Given the description of an element on the screen output the (x, y) to click on. 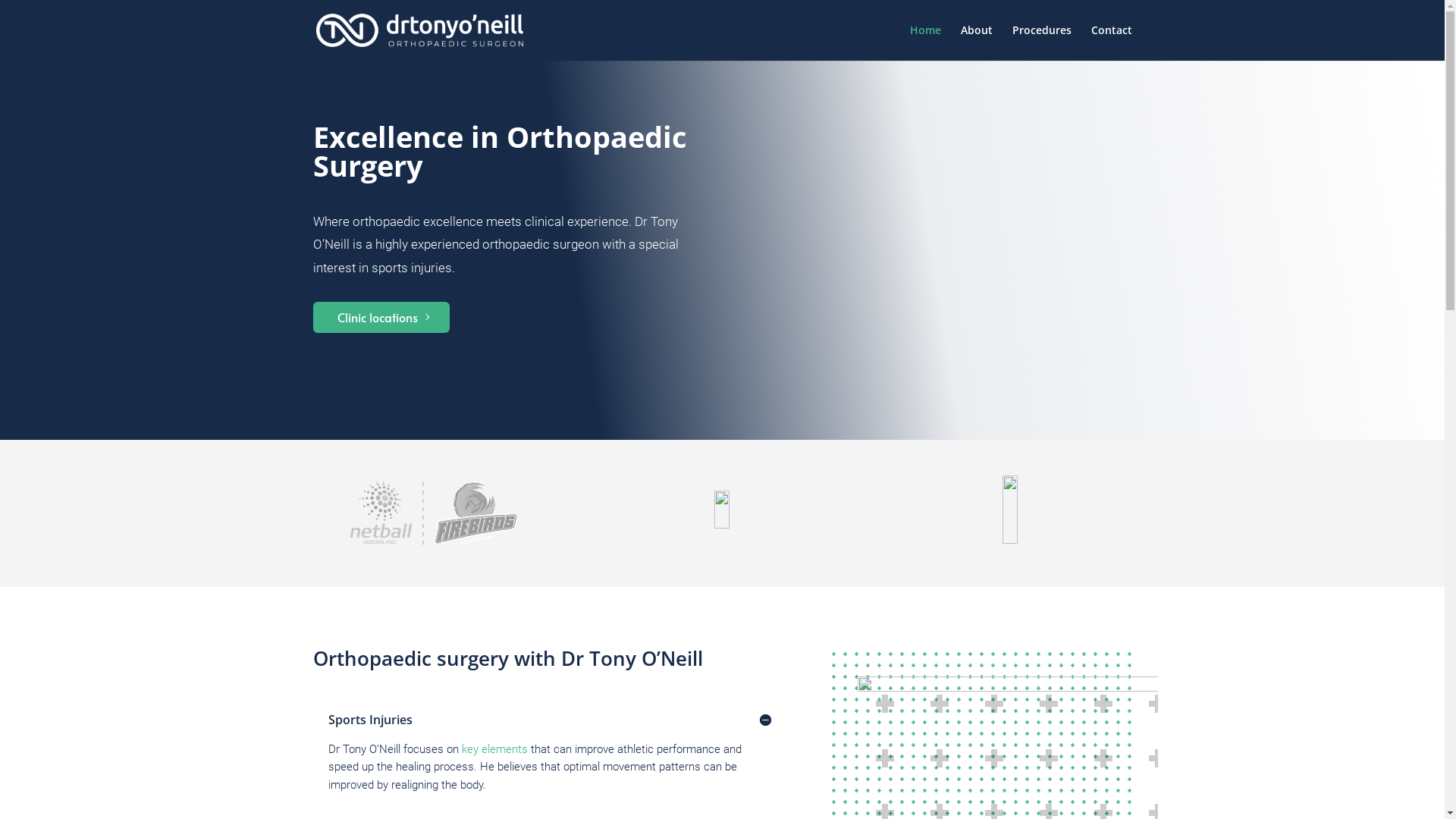
Contact Element type: text (1110, 42)
About Element type: text (975, 42)
key elements Element type: text (494, 749)
Clinic locations Element type: text (380, 316)
Procedures Element type: text (1040, 42)
GS_Rate-MDs-logo-colour Element type: hover (722, 509)
GS_BOSMC-logo_v3 Element type: hover (1010, 509)
Home Element type: text (925, 42)
